Given the description of an element on the screen output the (x, y) to click on. 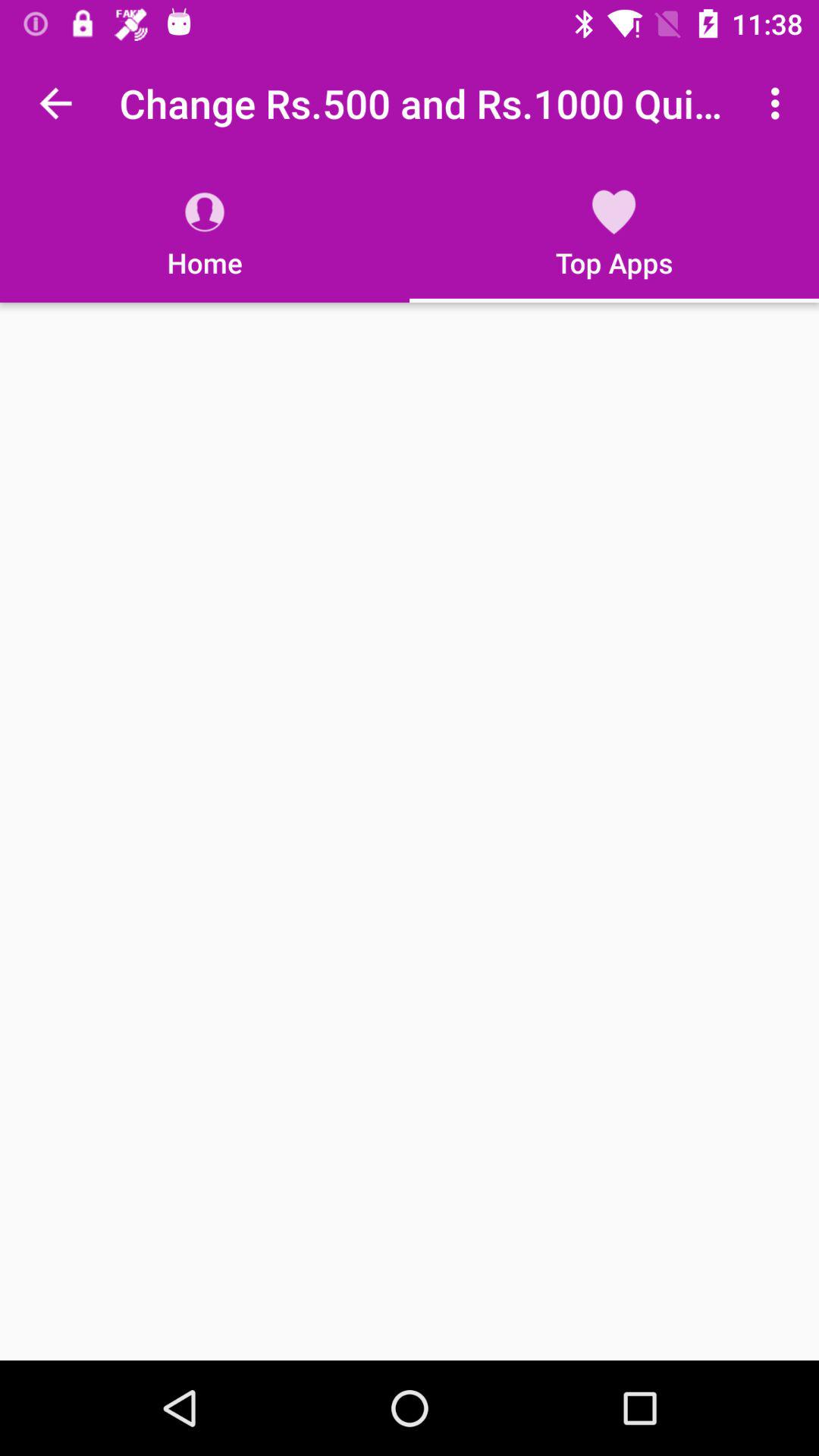
press item below home (409, 831)
